Given the description of an element on the screen output the (x, y) to click on. 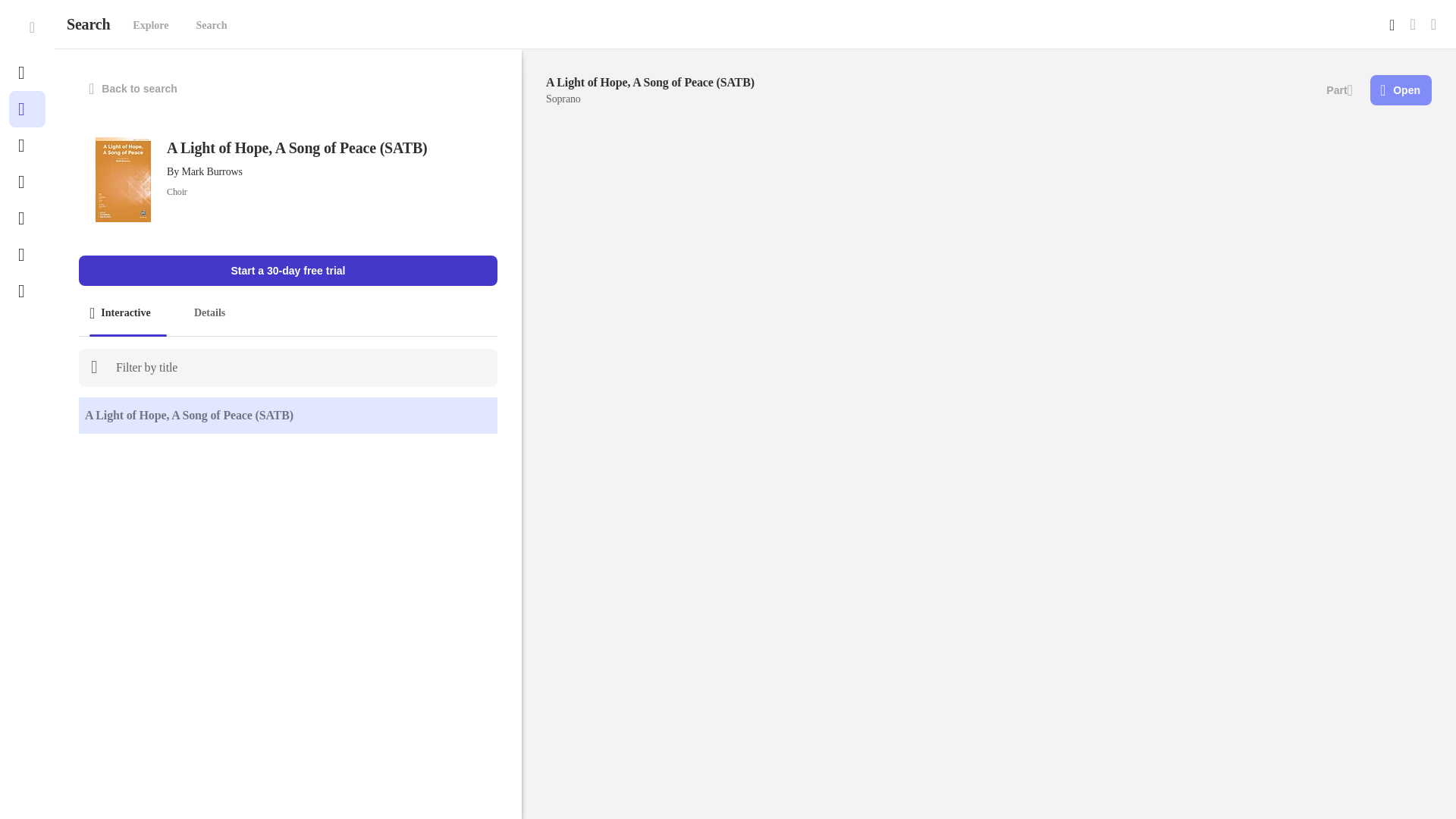
Part (1339, 90)
Start a 30-day free trial (287, 270)
Search (212, 25)
Open (1400, 90)
Back to search (133, 88)
Interactive (127, 313)
Explore (150, 25)
Details (209, 313)
